Given the description of an element on the screen output the (x, y) to click on. 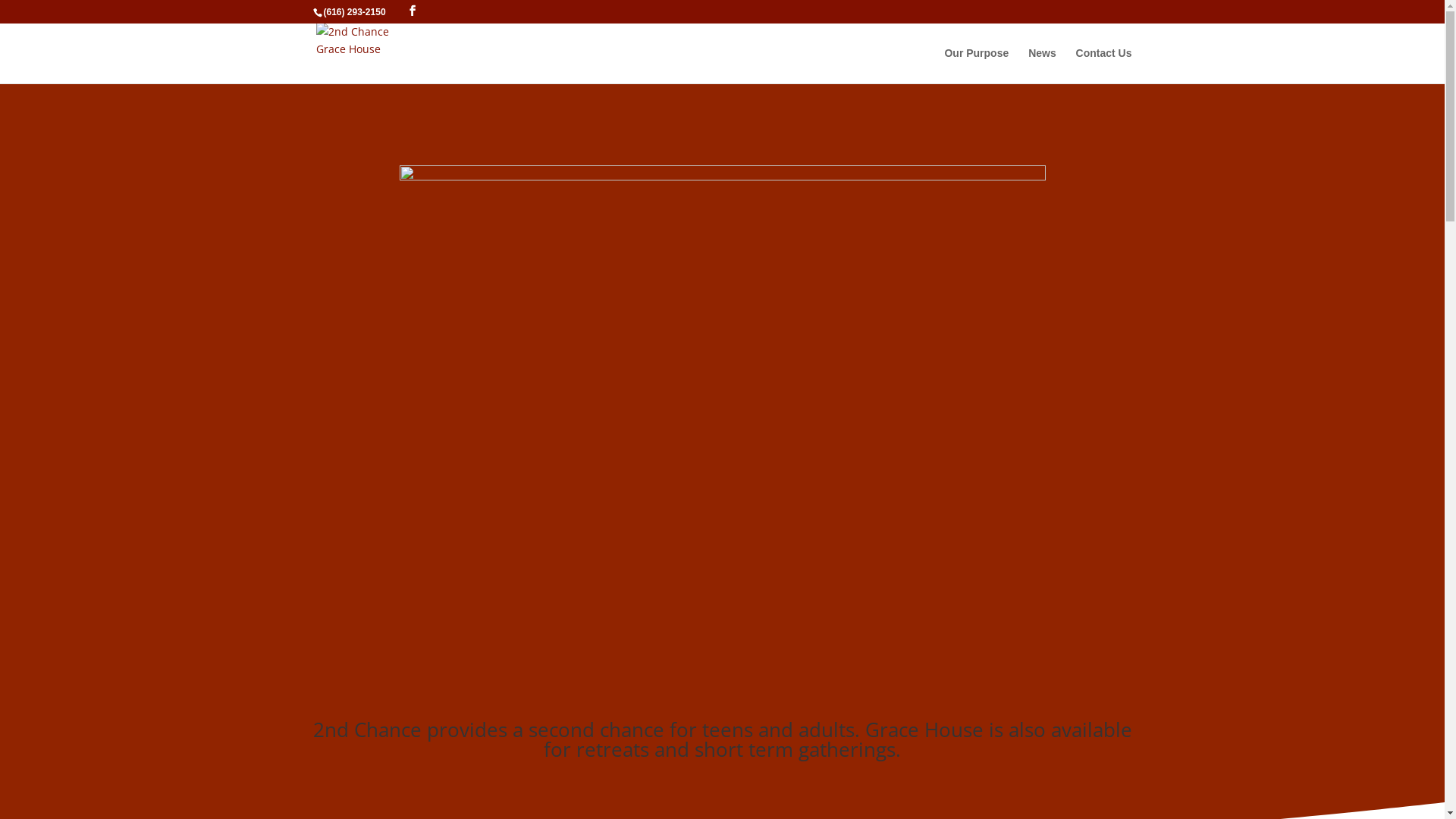
2nd Chance Grace house Logo Element type: hover (721, 430)
Contact Us Element type: text (1104, 65)
News Element type: text (1042, 65)
Our Purpose Element type: text (976, 65)
